Given the description of an element on the screen output the (x, y) to click on. 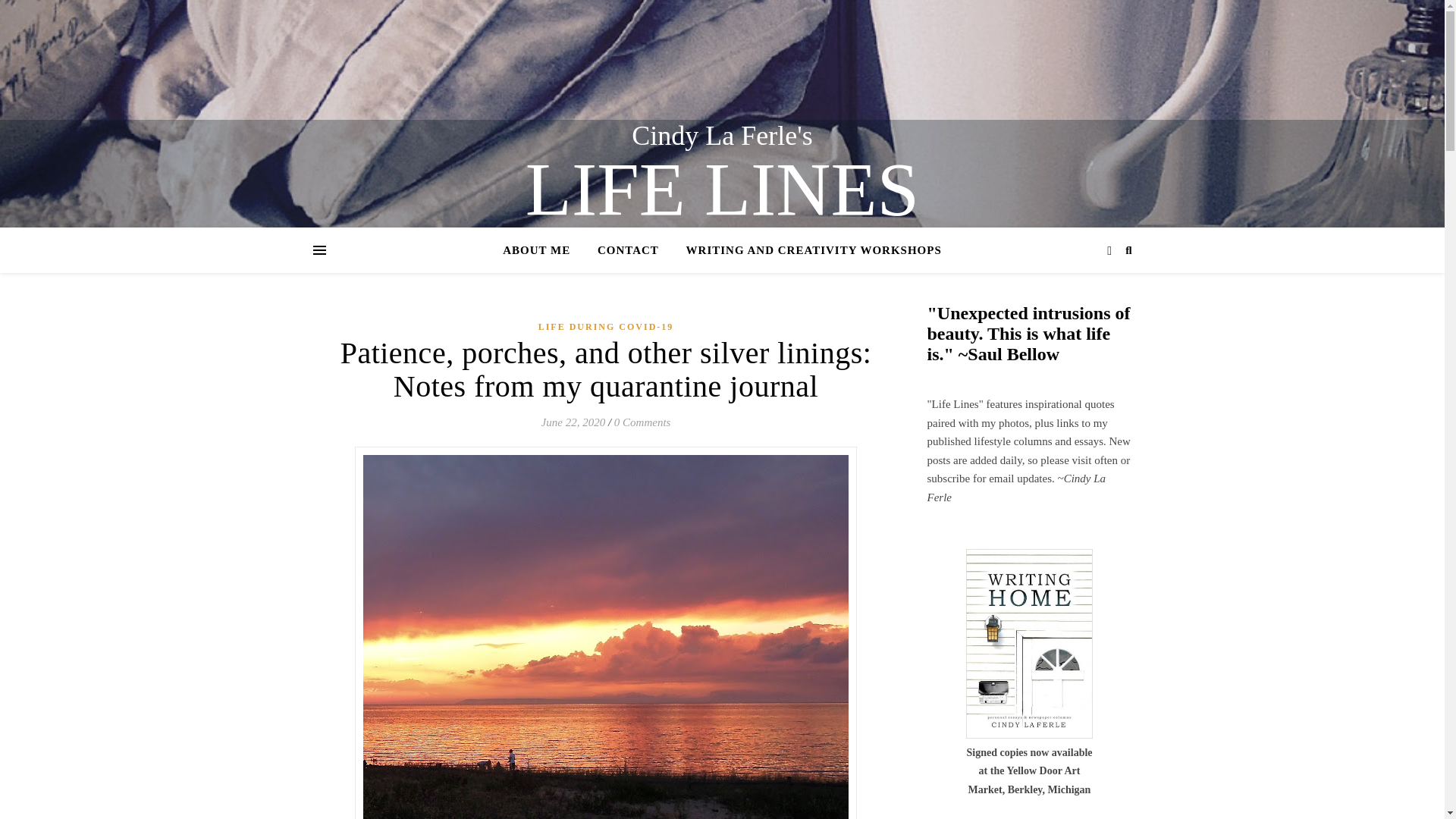
ABOUT ME (542, 249)
WRITING AND CREATIVITY WORKSHOPS (808, 249)
CONTACT (628, 249)
